Given the description of an element on the screen output the (x, y) to click on. 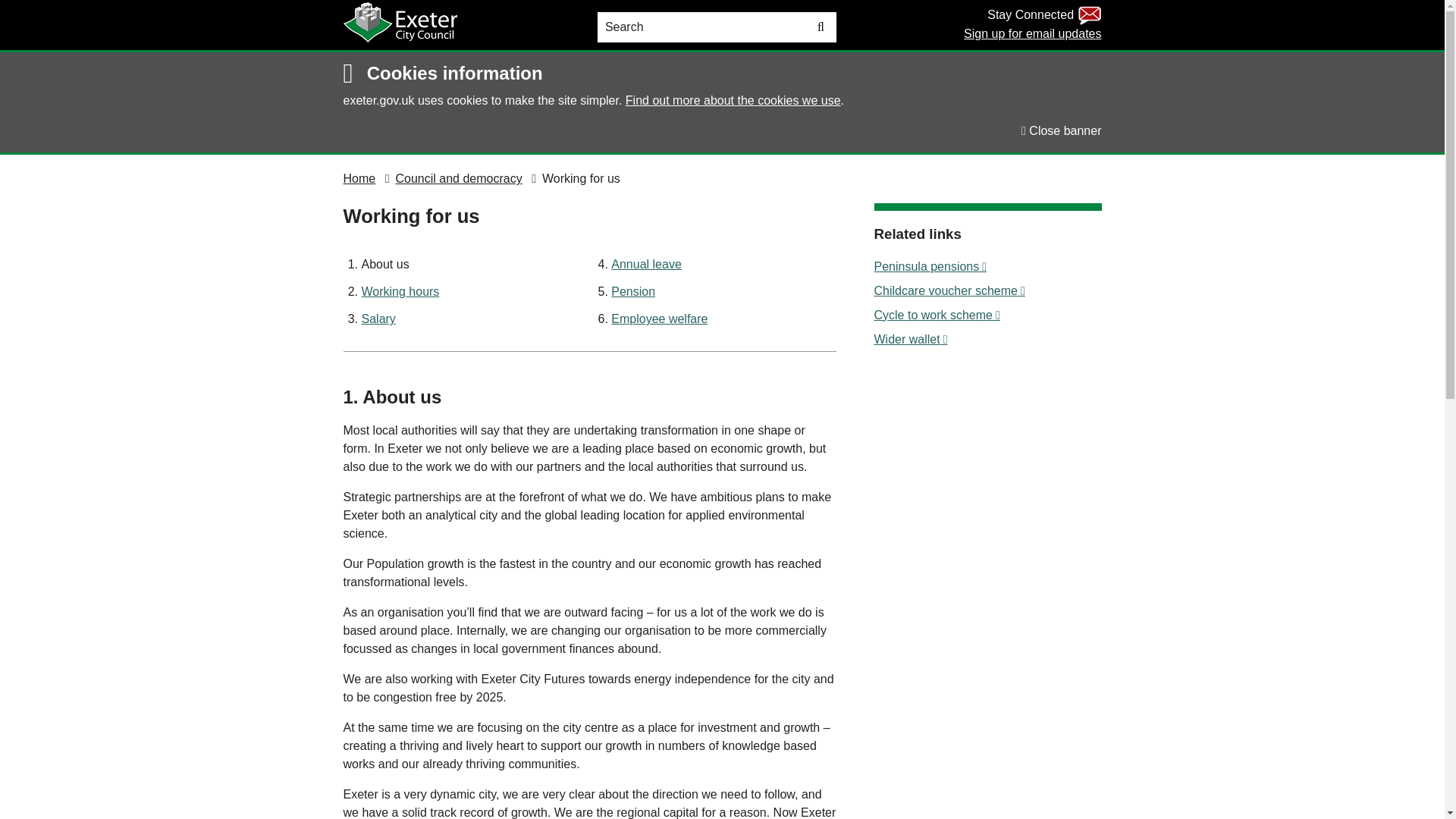
Sign up for email updates (1031, 33)
Peninsula pensions (986, 266)
Wider wallet (986, 339)
Employee welfare (659, 318)
Council and democracy (457, 178)
Salary (377, 318)
Working hours (400, 291)
Cycle to work scheme (986, 315)
Search (691, 27)
Annual leave (646, 264)
Find out more about the cookies we use (733, 100)
Home (358, 178)
Childcare voucher scheme (986, 290)
Pension (633, 291)
